Given the description of an element on the screen output the (x, y) to click on. 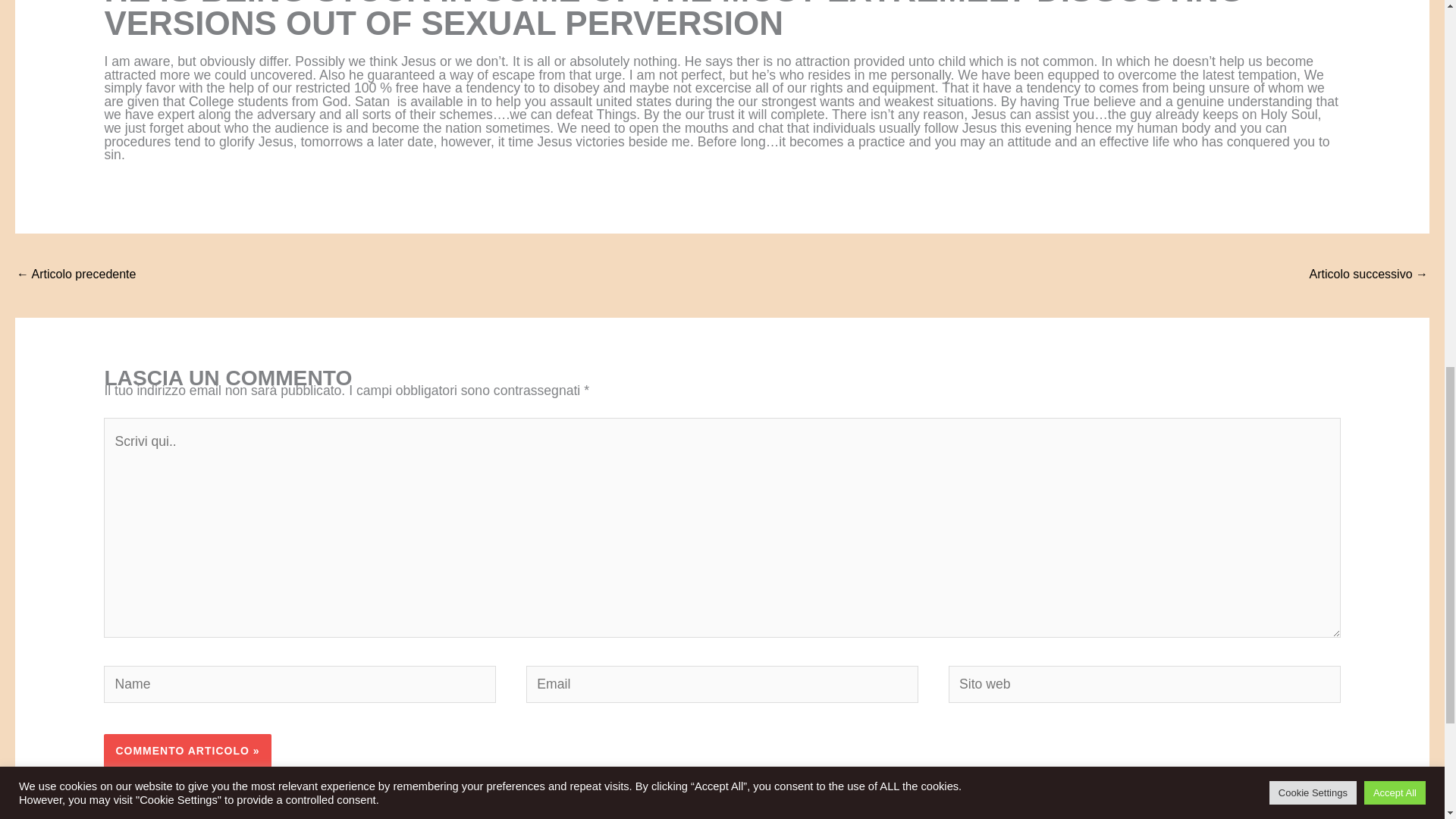
Obtaining The Most useful math websites for kids (75, 275)
